Given the description of an element on the screen output the (x, y) to click on. 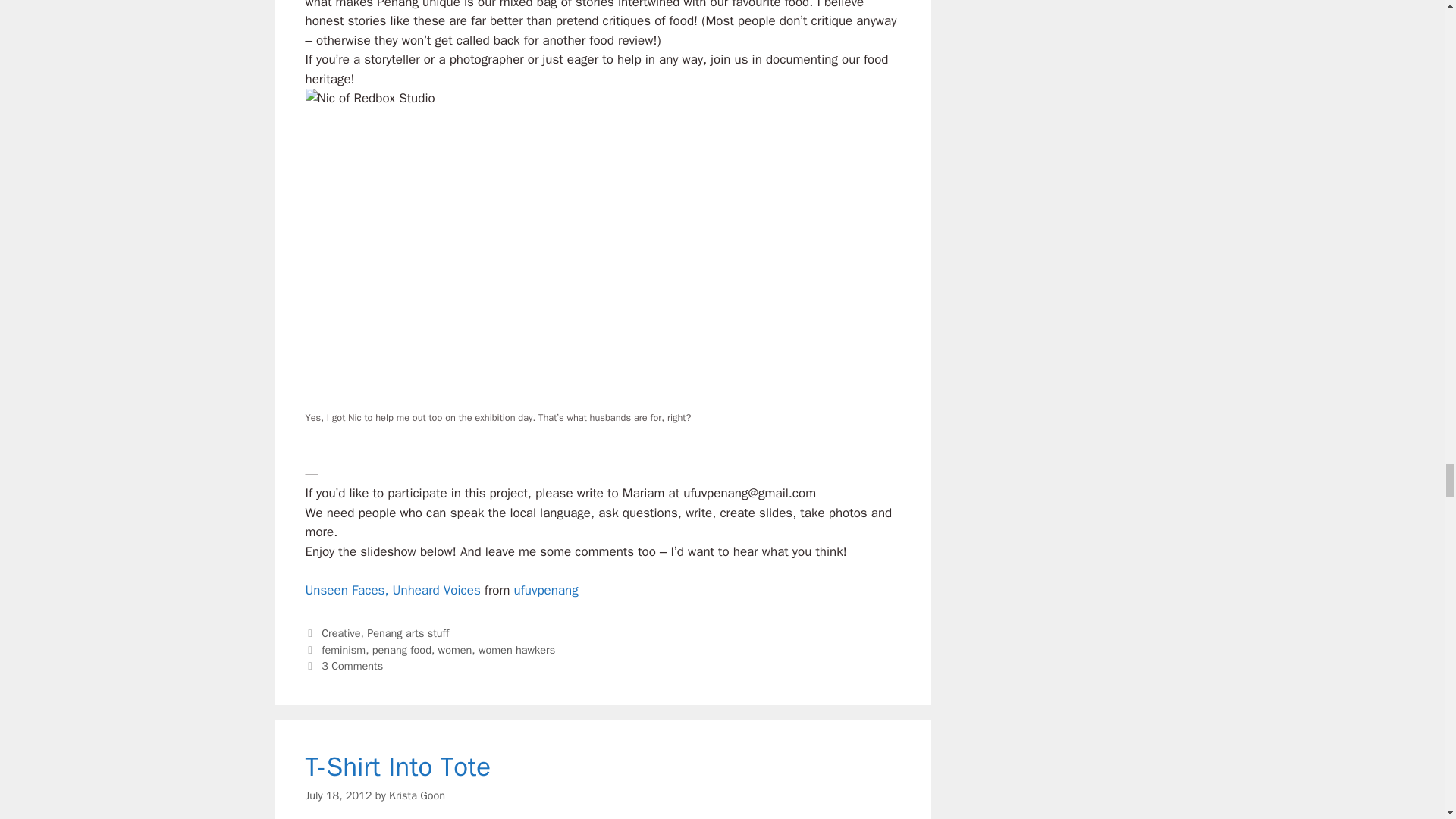
penang food (401, 649)
Unseen Faces, Unheard Voices (393, 590)
Creative (340, 632)
ufuvpenang (545, 590)
T-Shirt Into Tote (397, 766)
Unseen Faces, Unheard Voices  (393, 590)
women (454, 649)
Penang arts stuff (407, 632)
View all posts by Krista Goon (416, 795)
Krista Goon (416, 795)
